Given the description of an element on the screen output the (x, y) to click on. 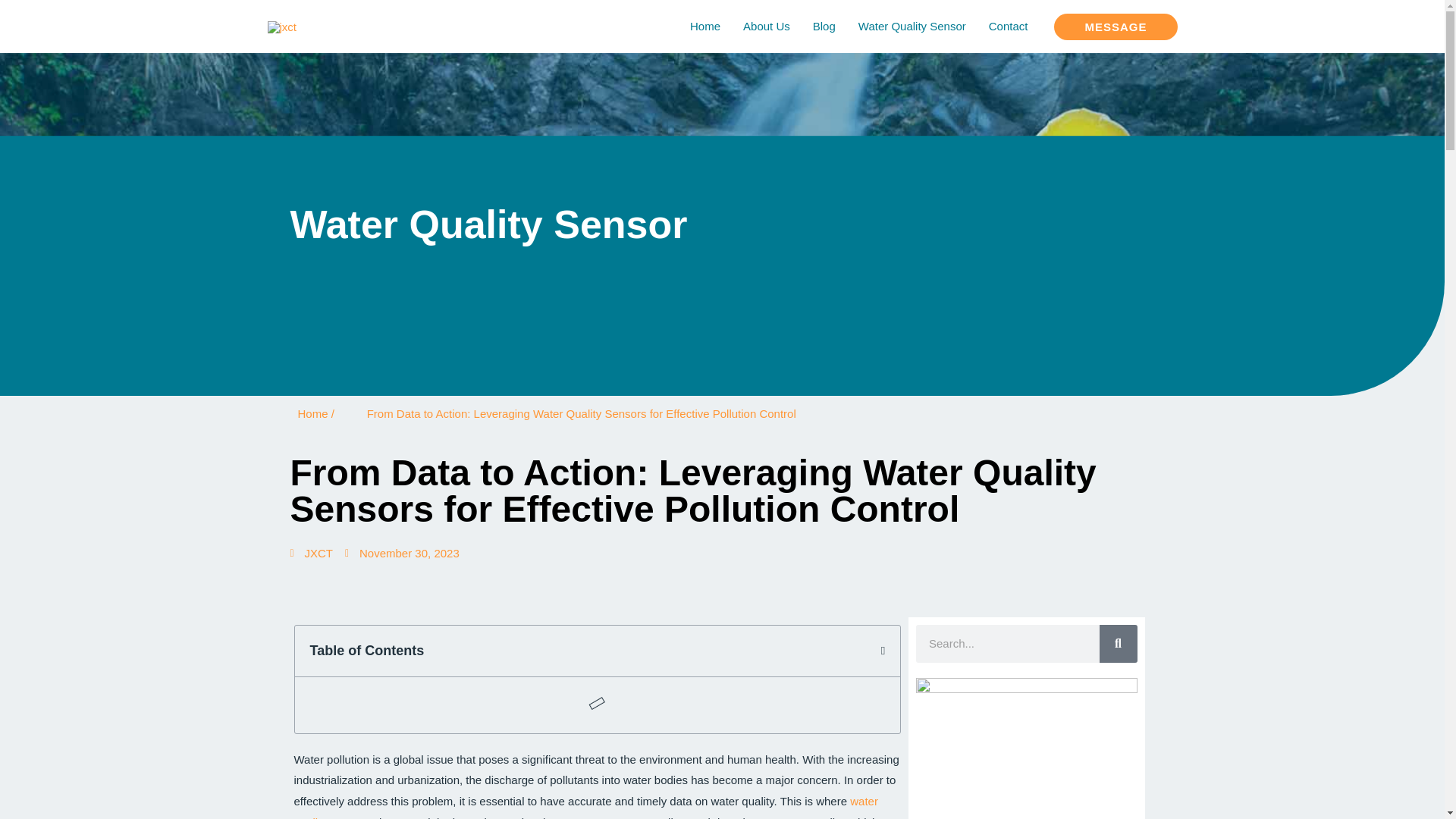
Contact (1007, 26)
MESSAGE (1115, 26)
November 30, 2023 (402, 553)
About Us (767, 26)
Water Quality Sensor (911, 26)
Home (705, 26)
water quality sensors (585, 806)
JXCT (311, 553)
